Given the description of an element on the screen output the (x, y) to click on. 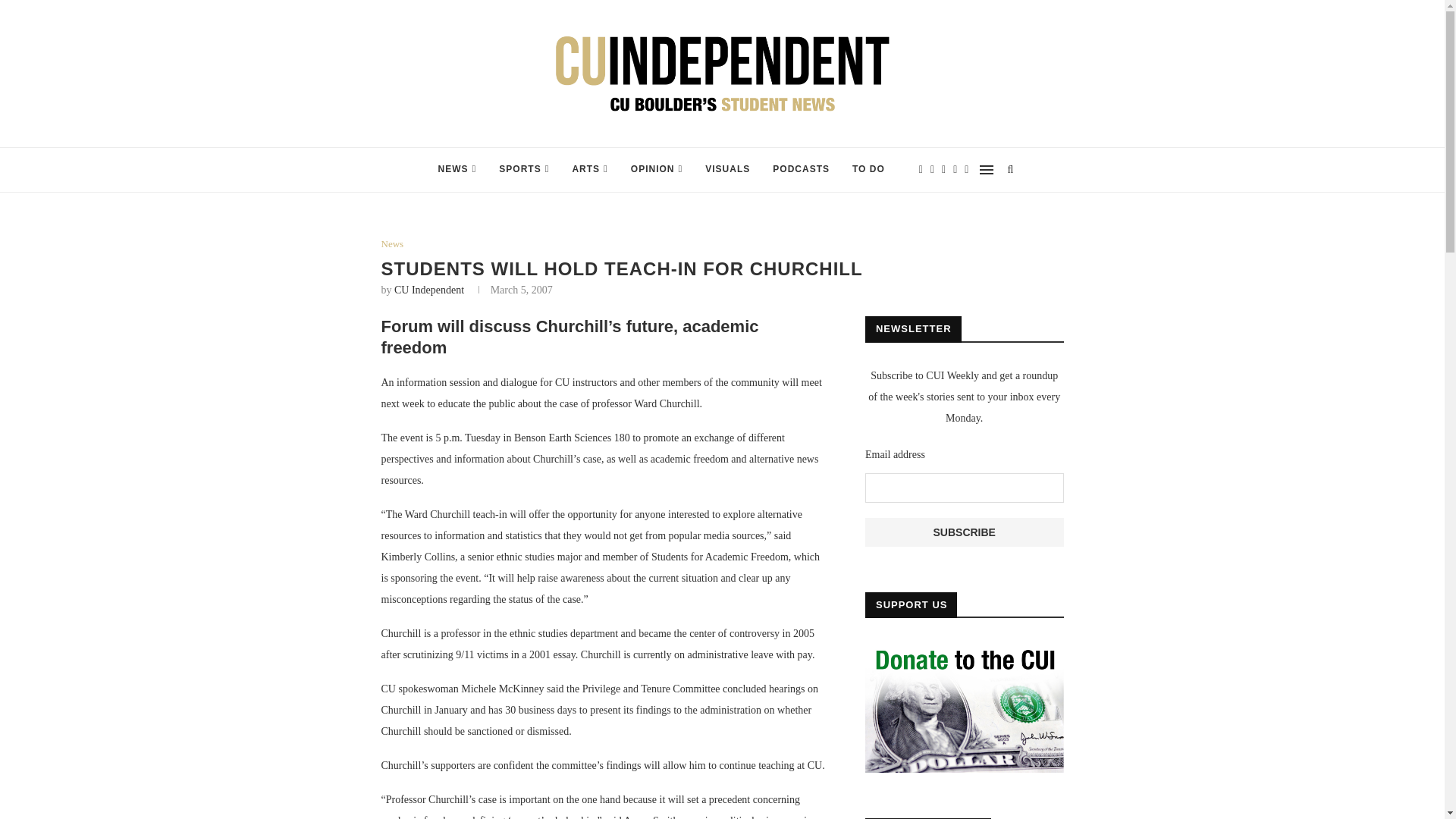
Subscribe (964, 532)
